Given the description of an element on the screen output the (x, y) to click on. 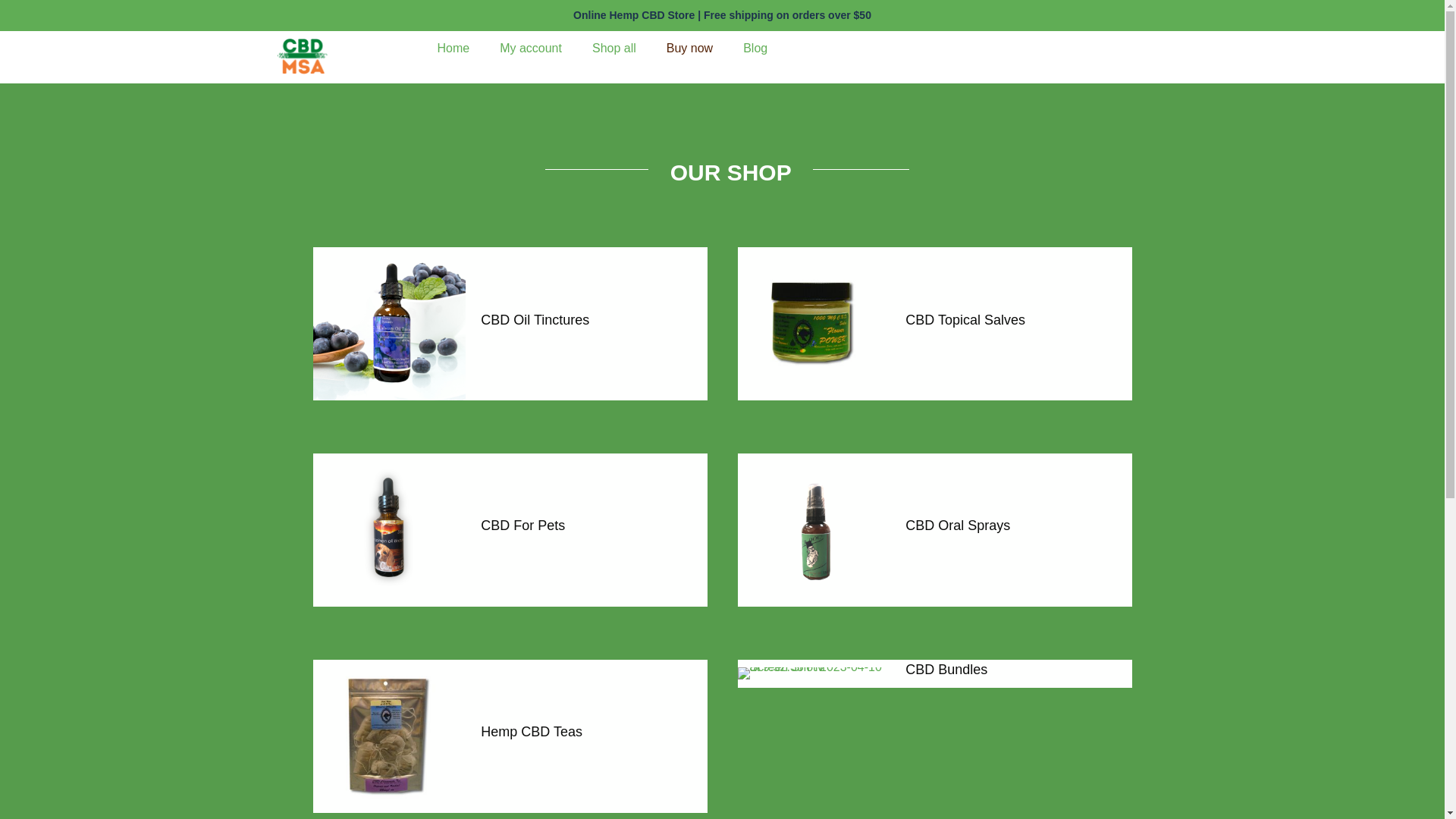
Untitled design-256 (389, 529)
Hemp CBD Teas (531, 731)
Home (453, 48)
Shop all (613, 48)
CBD Oil Tinctures (534, 319)
1000mg oral spray chocolate mint (812, 529)
Buy now (689, 48)
Blog (755, 48)
Janevape 1000mg Flower Power CBD Salve (812, 323)
CBD Topical Salves (965, 319)
Screen Shot 2023-04-10 at 9.52.35 PM (812, 673)
CBD Bundles (946, 669)
Janevape 200mg Chamomile CBD Tea (389, 736)
CBD For Pets (522, 525)
CBD Oral Sprays (957, 525)
